Given the description of an element on the screen output the (x, y) to click on. 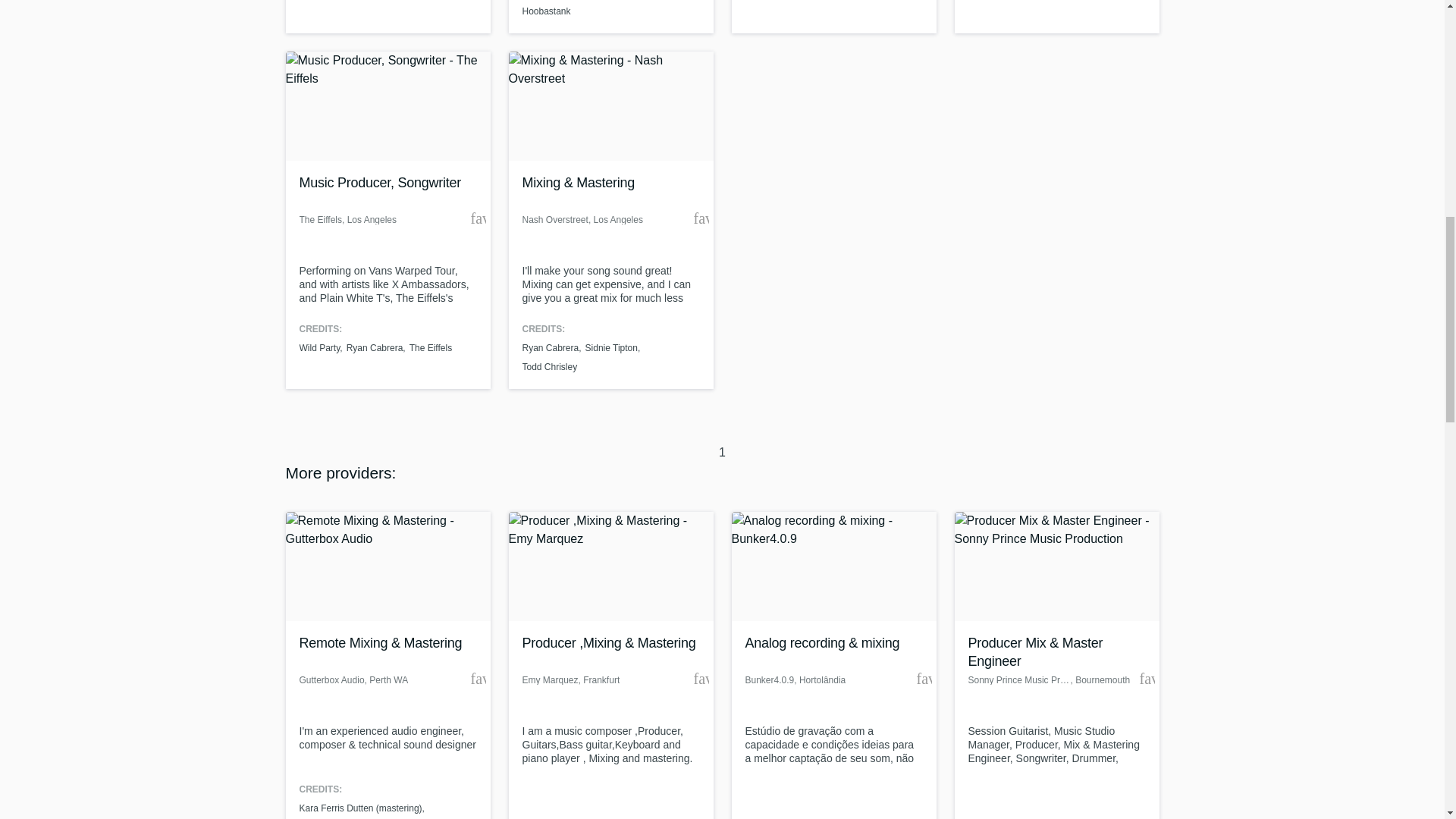
Add to favorites (477, 678)
Add to favorites (700, 218)
Add to favorites (477, 218)
Add to favorites (700, 678)
Add to favorites (923, 678)
